Given the description of an element on the screen output the (x, y) to click on. 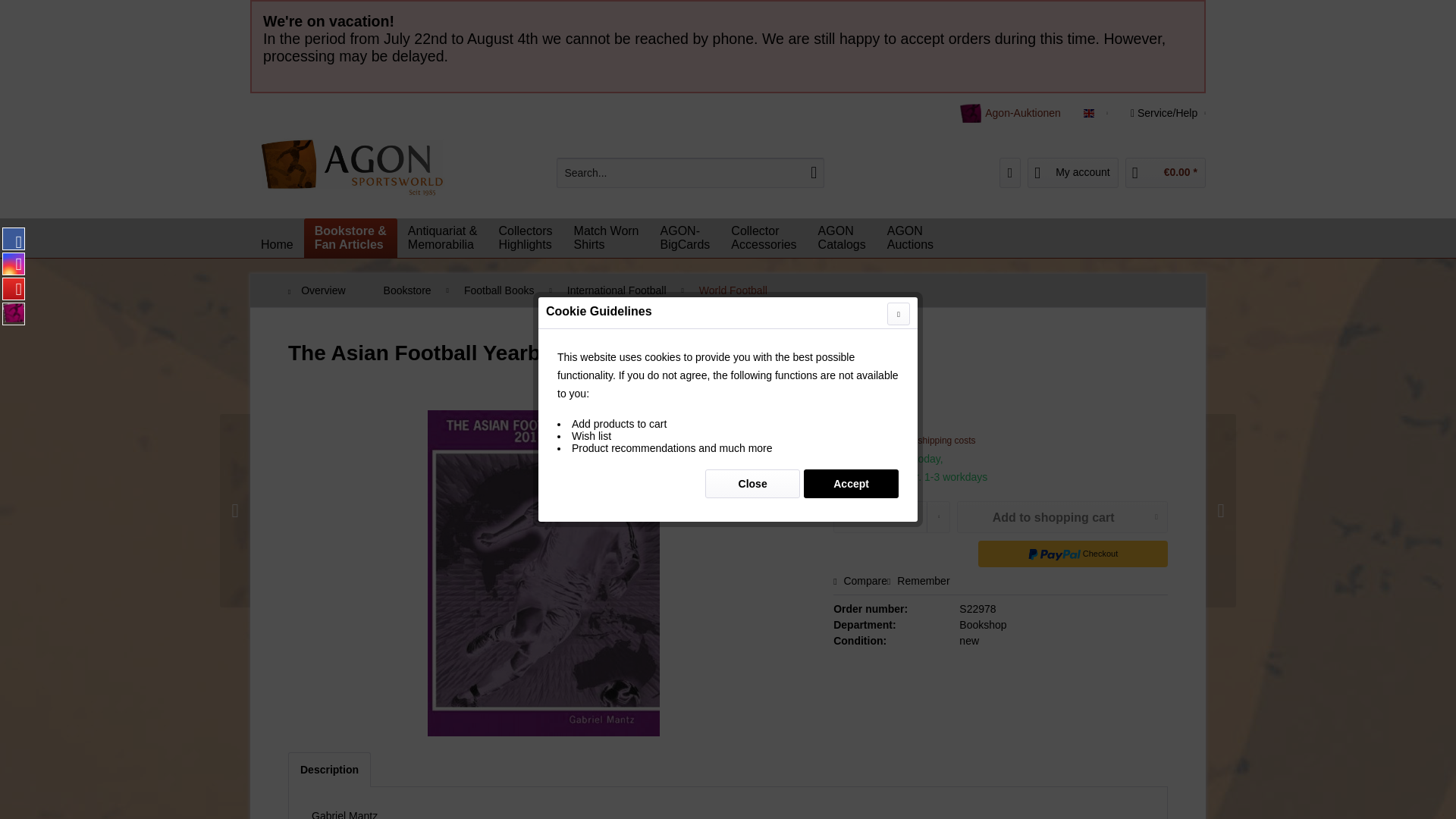
Home (277, 244)
My account (606, 237)
International Football (909, 237)
Overview (842, 237)
My account (1072, 173)
Agon-Auktionen (616, 290)
Wish list (324, 290)
